Given the description of an element on the screen output the (x, y) to click on. 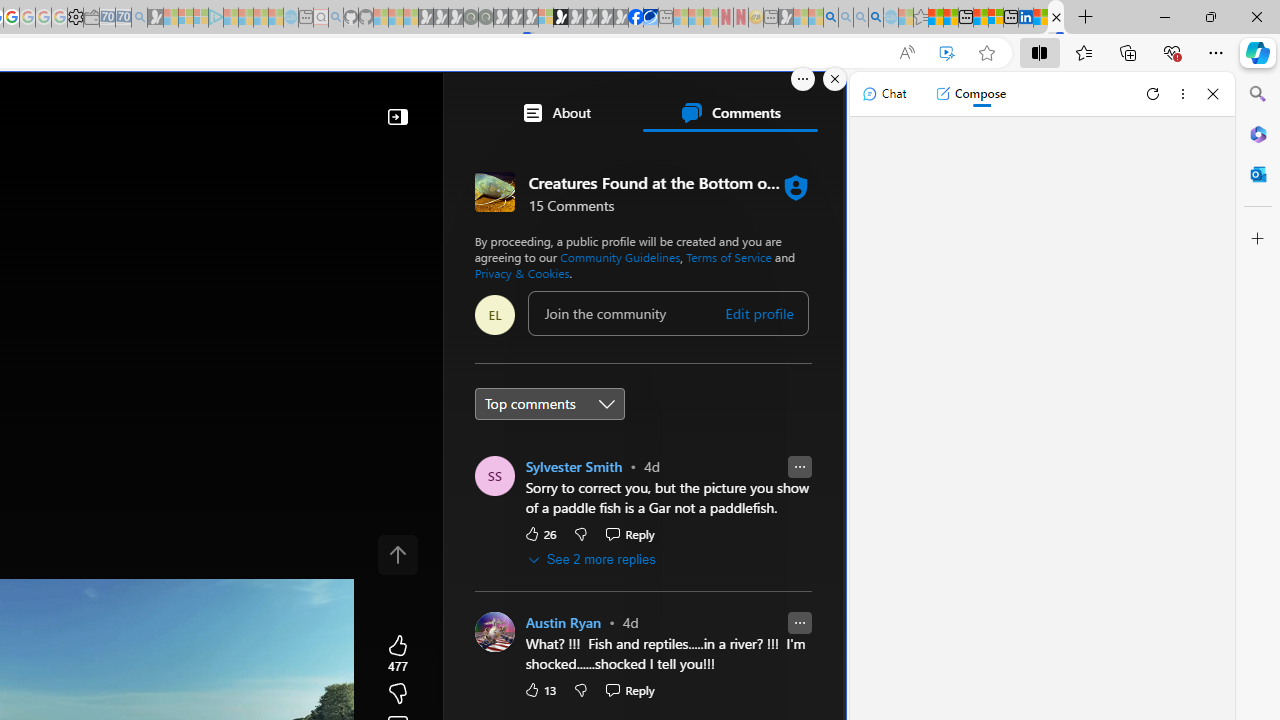
Enhance video (946, 53)
Terms of Service (728, 255)
